Given the description of an element on the screen output the (x, y) to click on. 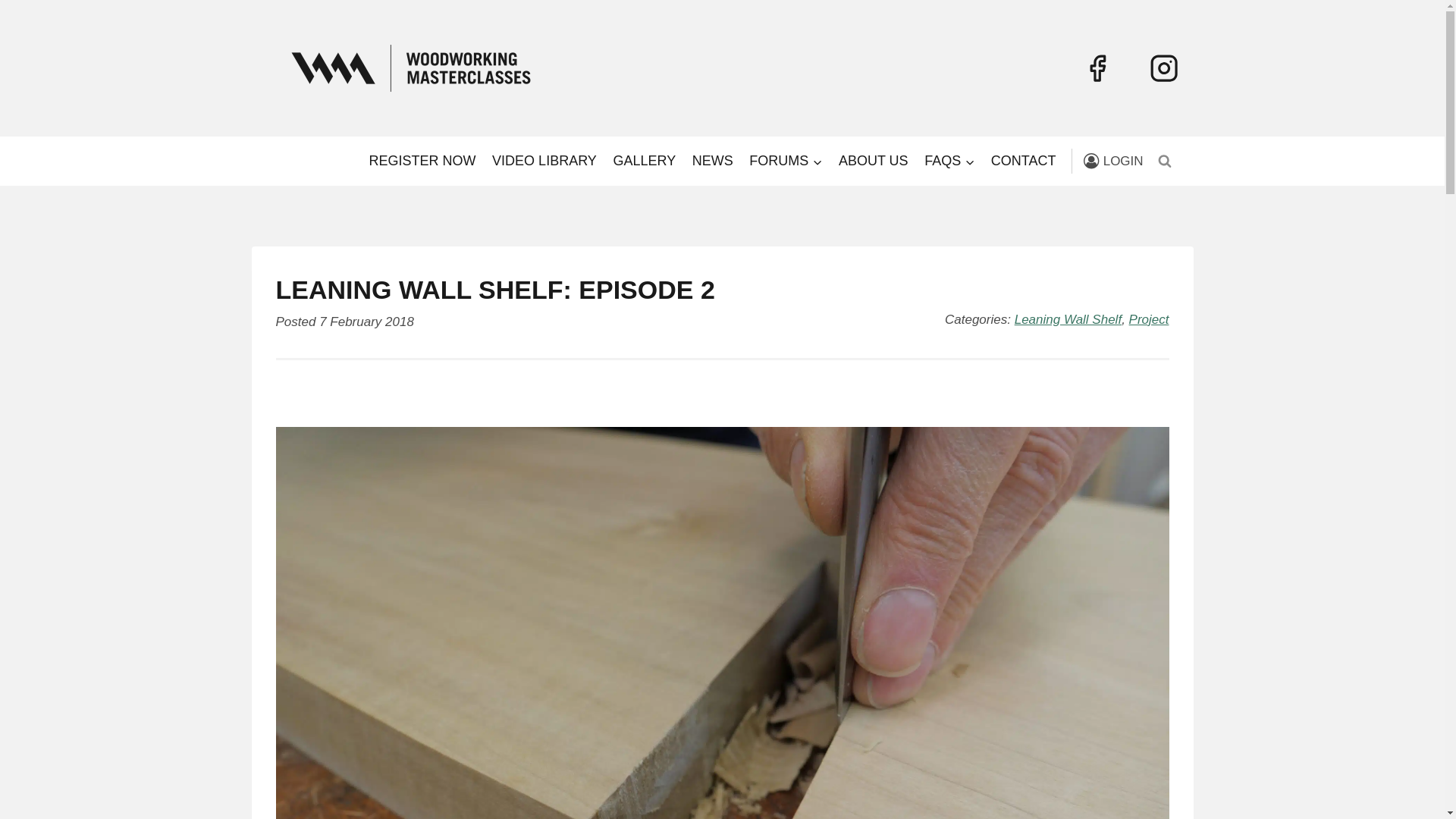
LOGIN (1112, 161)
FORUMS (786, 160)
CONTACT (1023, 160)
GALLERY (644, 160)
NEWS (712, 160)
REGISTER NOW (422, 160)
Leaning Wall Shelf (1067, 319)
Project (1149, 319)
FAQS (948, 160)
ABOUT US (872, 160)
